Given the description of an element on the screen output the (x, y) to click on. 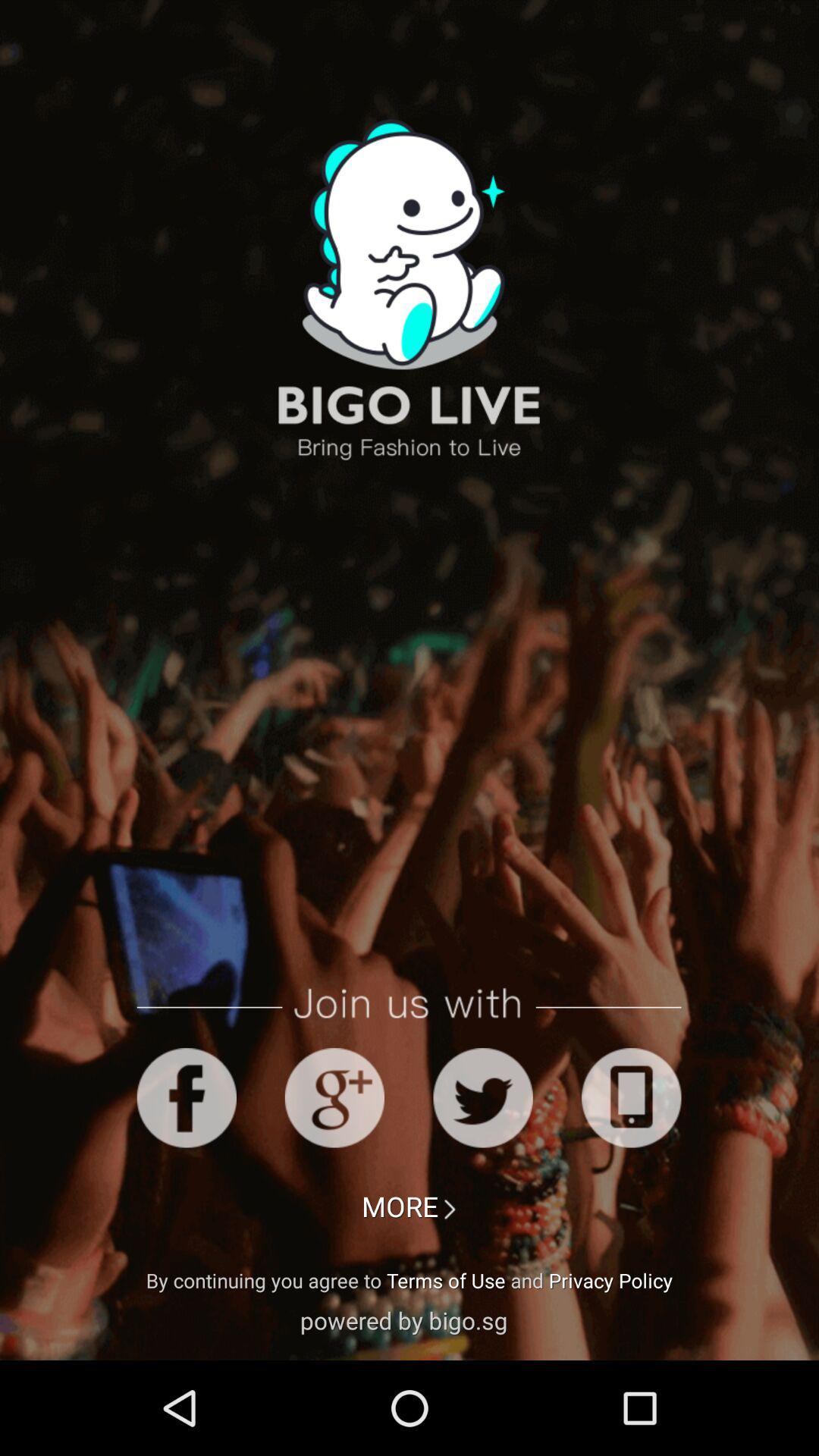
join with google+ (334, 1097)
